Given the description of an element on the screen output the (x, y) to click on. 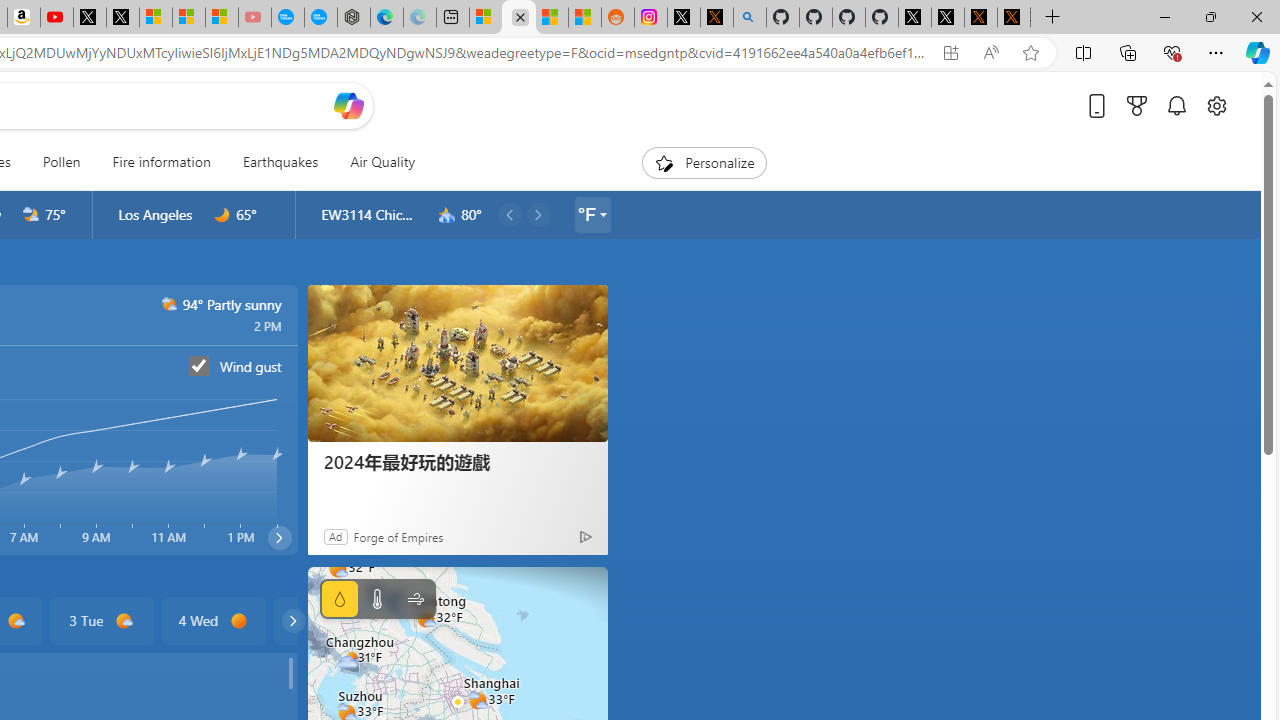
The most popular Google 'how to' searches (320, 17)
Personalize (703, 162)
Shanghai, China hourly forecast | Microsoft Weather (519, 17)
Pollen (61, 162)
d1000 (124, 621)
locationBar/triangle (602, 214)
Temperature (376, 599)
n0000 (221, 215)
d0000 (239, 621)
